Given the description of an element on the screen output the (x, y) to click on. 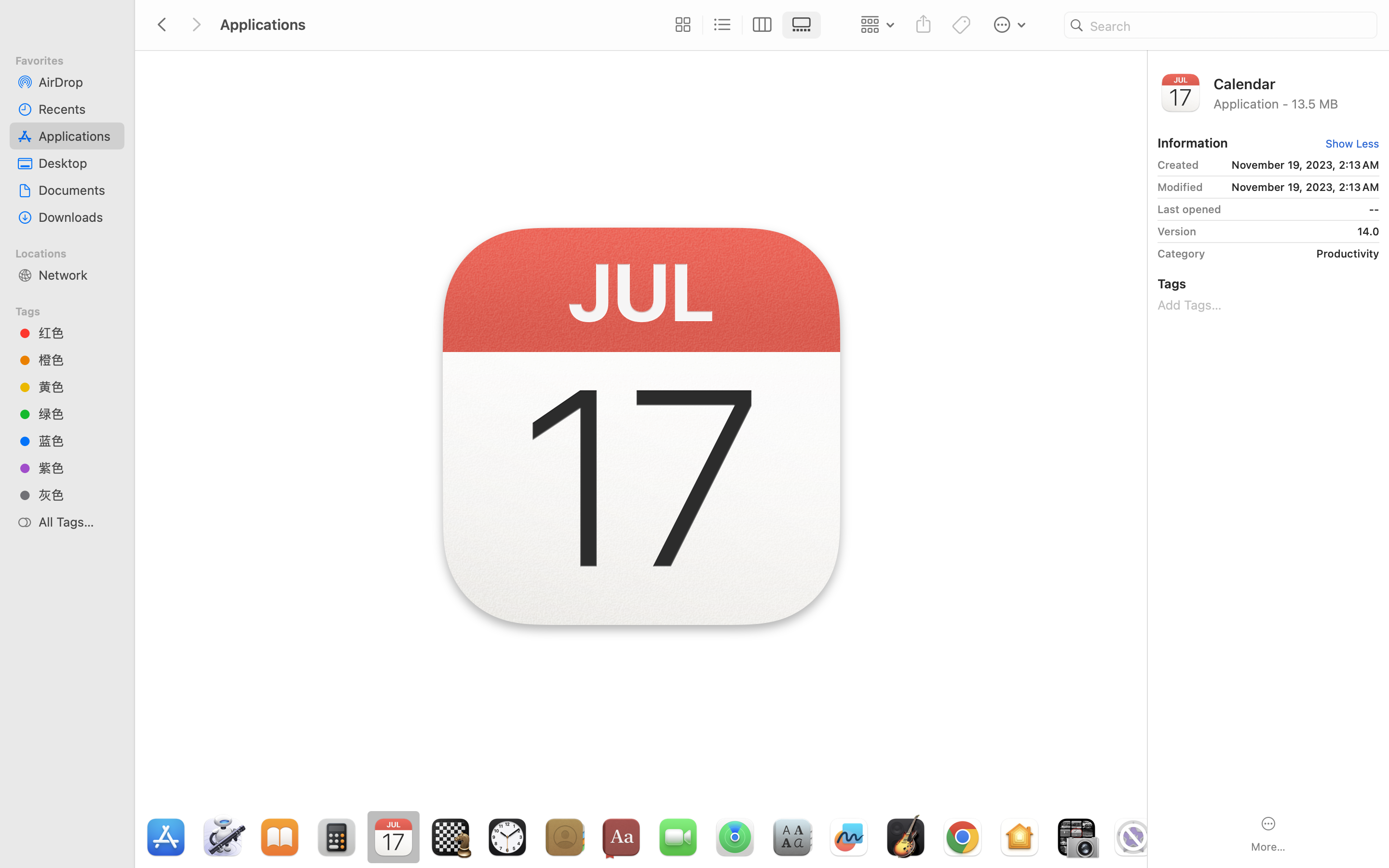
Application - 13.5 MB Element type: AXStaticText (1296, 102)
Applications Element type: AXStaticText (437, 827)
灰色 Element type: AXStaticText (77, 494)
All Tags… Element type: AXStaticText (77, 521)
1 Element type: AXRadioButton (804, 24)
